Given the description of an element on the screen output the (x, y) to click on. 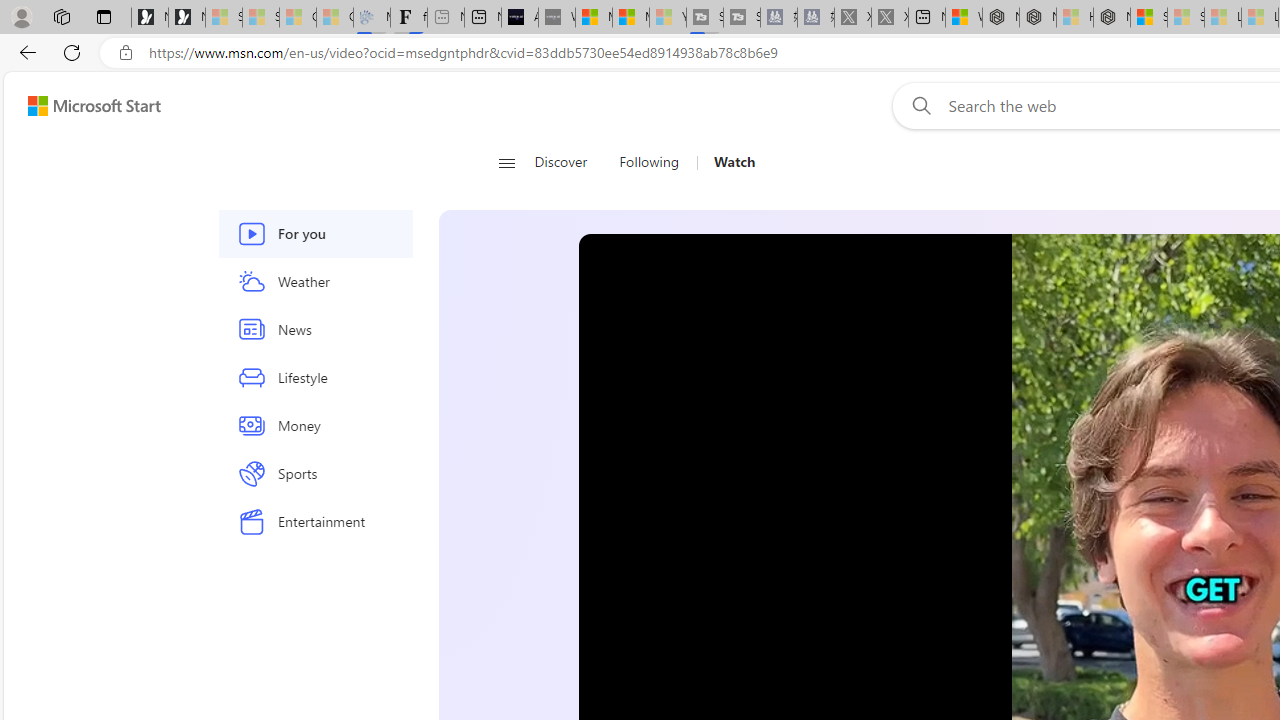
Tab actions menu (104, 16)
Refresh (72, 52)
Newsletter Sign Up (186, 17)
Skip to content (86, 105)
AI Voice Changer for PC and Mac - Voice.ai (519, 17)
Skip to footer (82, 105)
Microsoft Start (630, 17)
Back (24, 52)
Streaming Coverage | T3 - Sleeping (705, 17)
Wildlife - MSN (963, 17)
Discover (560, 162)
